Given the description of an element on the screen output the (x, y) to click on. 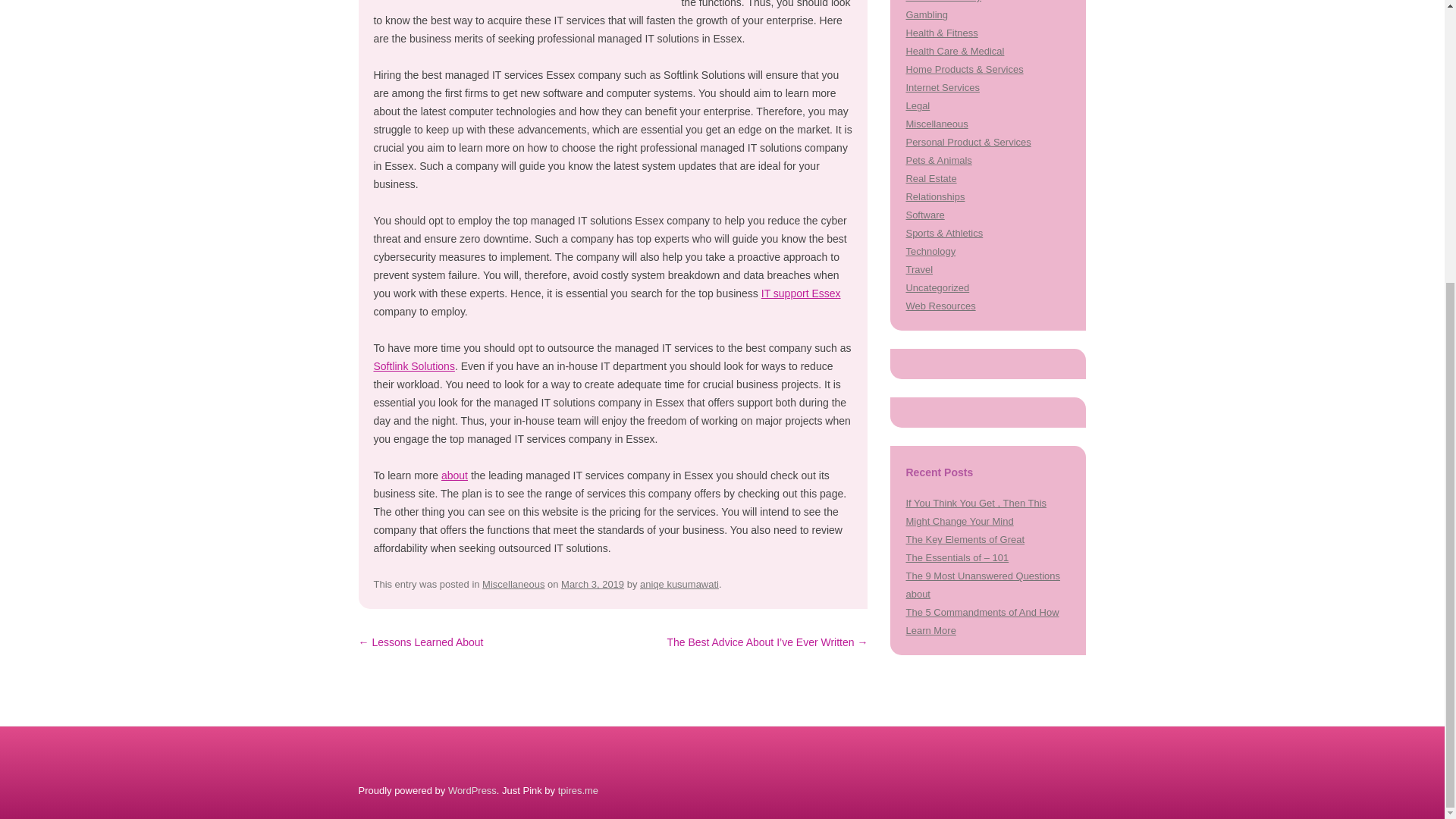
March 3, 2019 (592, 583)
If You Think You Get , Then This Might Change Your Mind (975, 512)
Semantic Personal Publishing Platform (472, 790)
Relationships (934, 196)
Web Resources (940, 306)
The Key Elements of Great (965, 539)
Internet Services (941, 87)
Gambling (926, 14)
IT support Essex (801, 293)
Legal (917, 105)
